Given the description of an element on the screen output the (x, y) to click on. 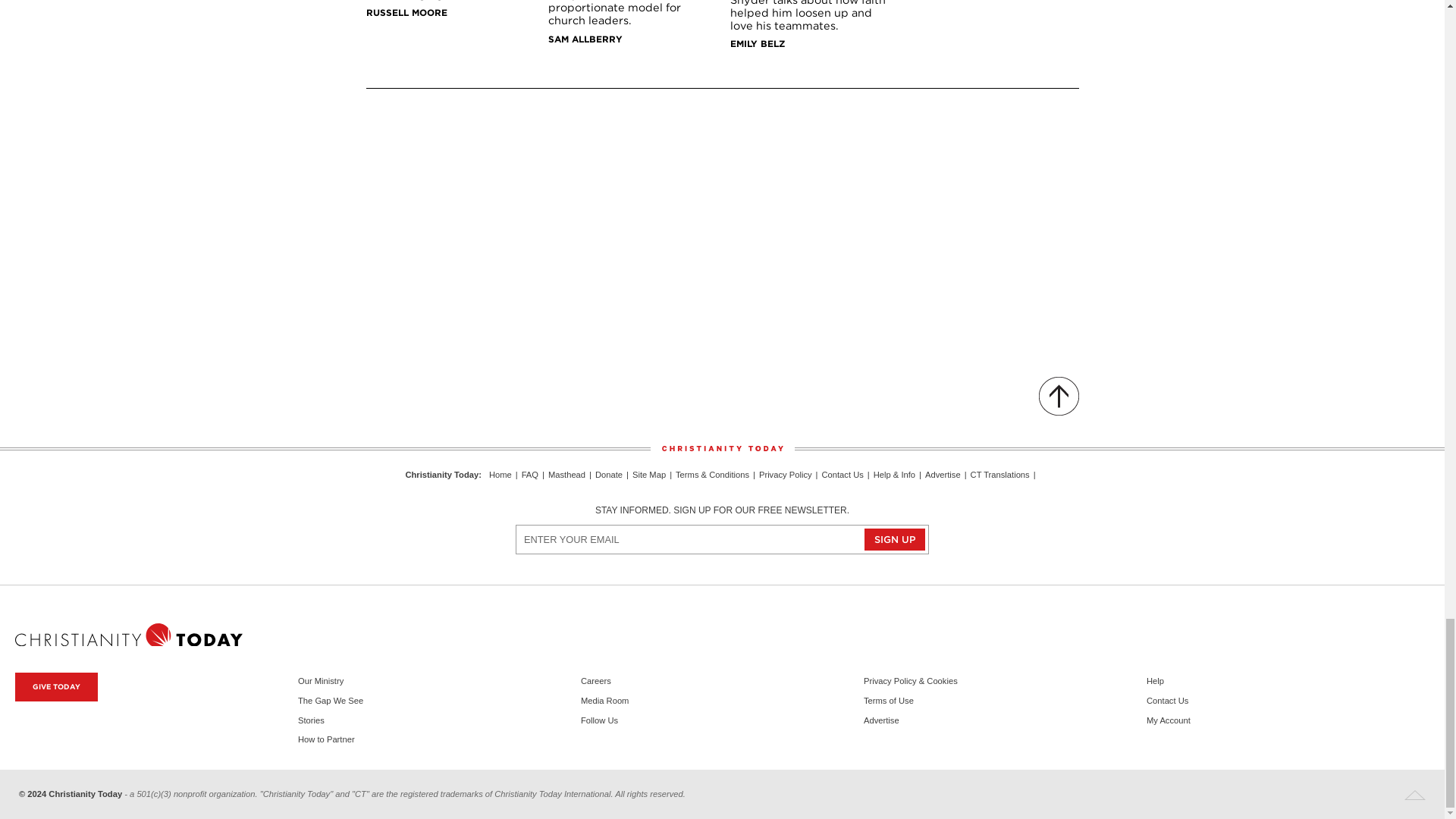
Sign Up (894, 539)
